Given the description of an element on the screen output the (x, y) to click on. 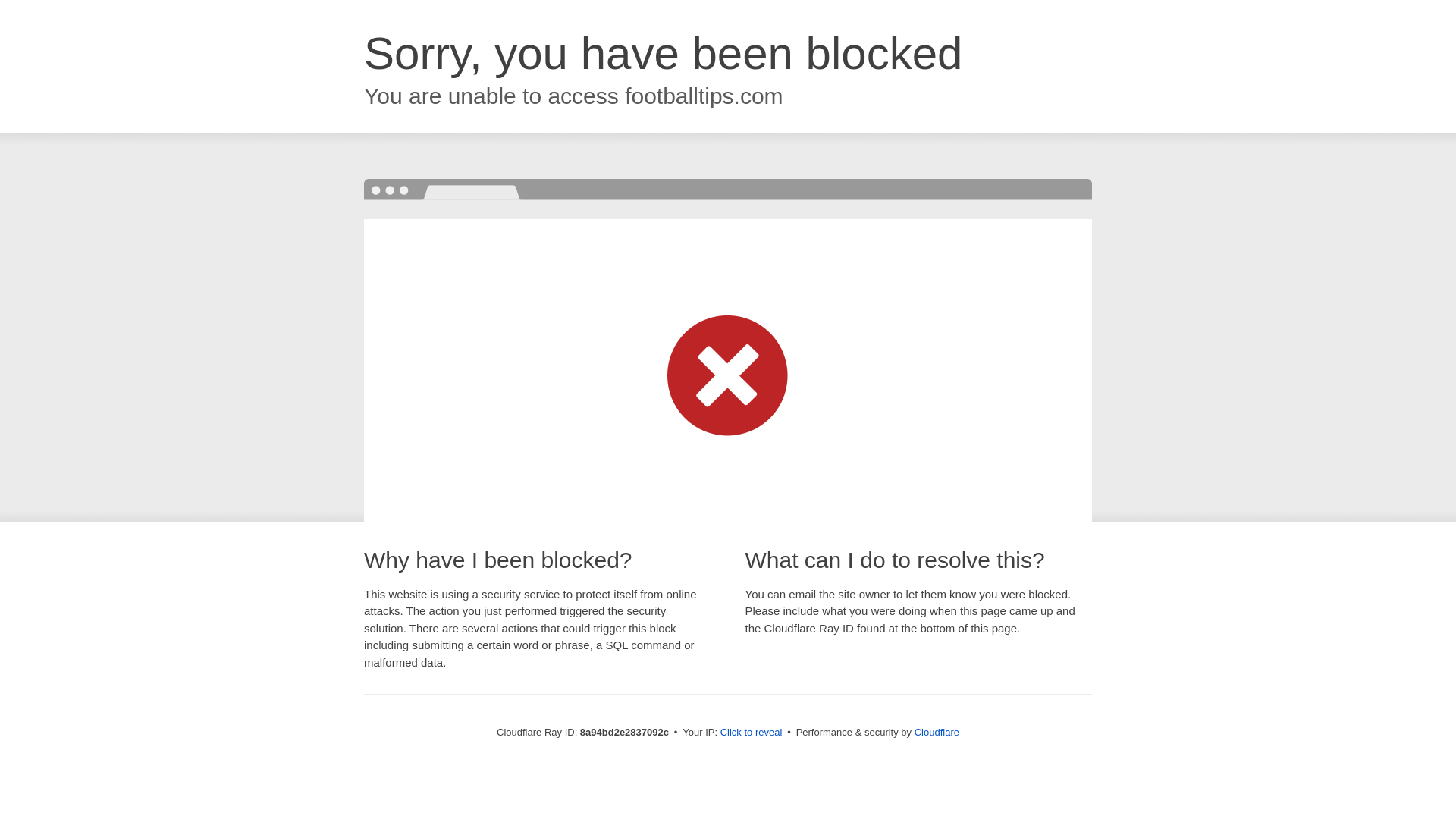
Click to reveal (751, 732)
Cloudflare (936, 731)
